Given the description of an element on the screen output the (x, y) to click on. 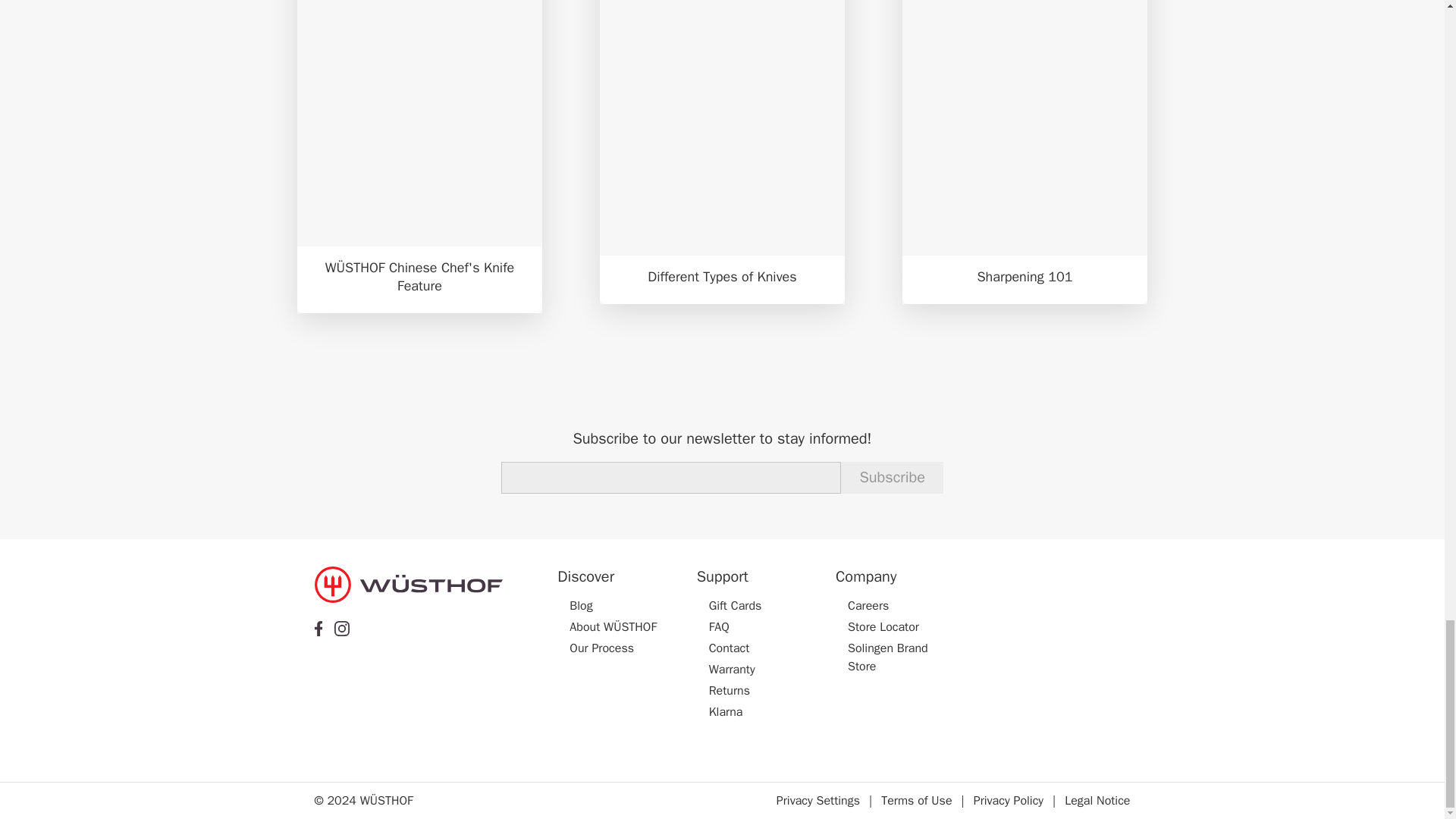
PayPal (992, 604)
Google Pay (1032, 604)
Visa (992, 577)
Discover (1112, 577)
American Express (1072, 577)
Klarna (1072, 604)
Mastercard (1032, 577)
